Given the description of an element on the screen output the (x, y) to click on. 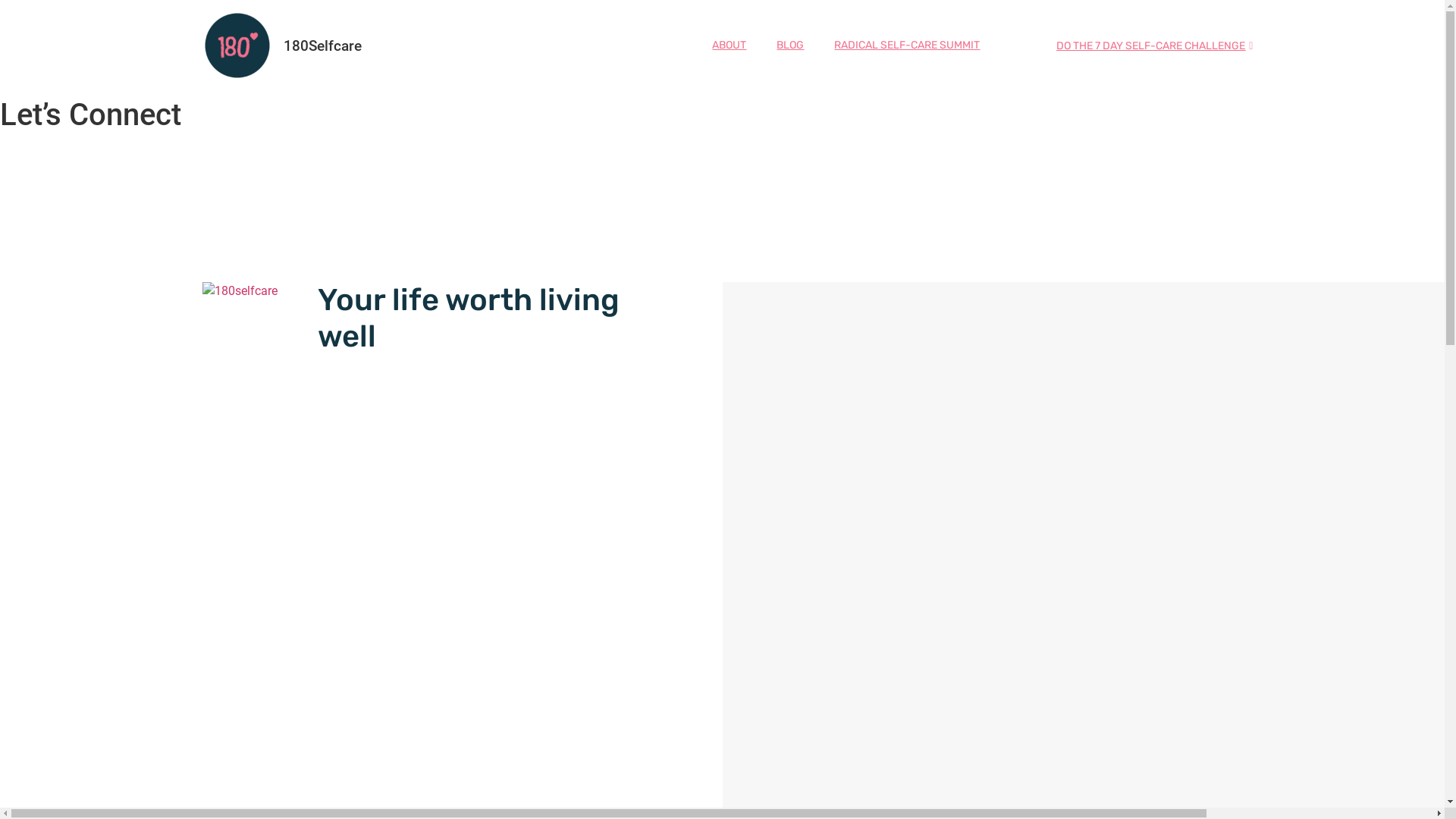
ABOUT Element type: text (729, 45)
180Selfcare Element type: text (322, 44)
RADICAL SELF-CARE SUMMIT Element type: text (906, 45)
BLOG Element type: text (789, 45)
DO THE 7 DAY SELF-CARE CHALLENGE Element type: text (1154, 47)
